Given the description of an element on the screen output the (x, y) to click on. 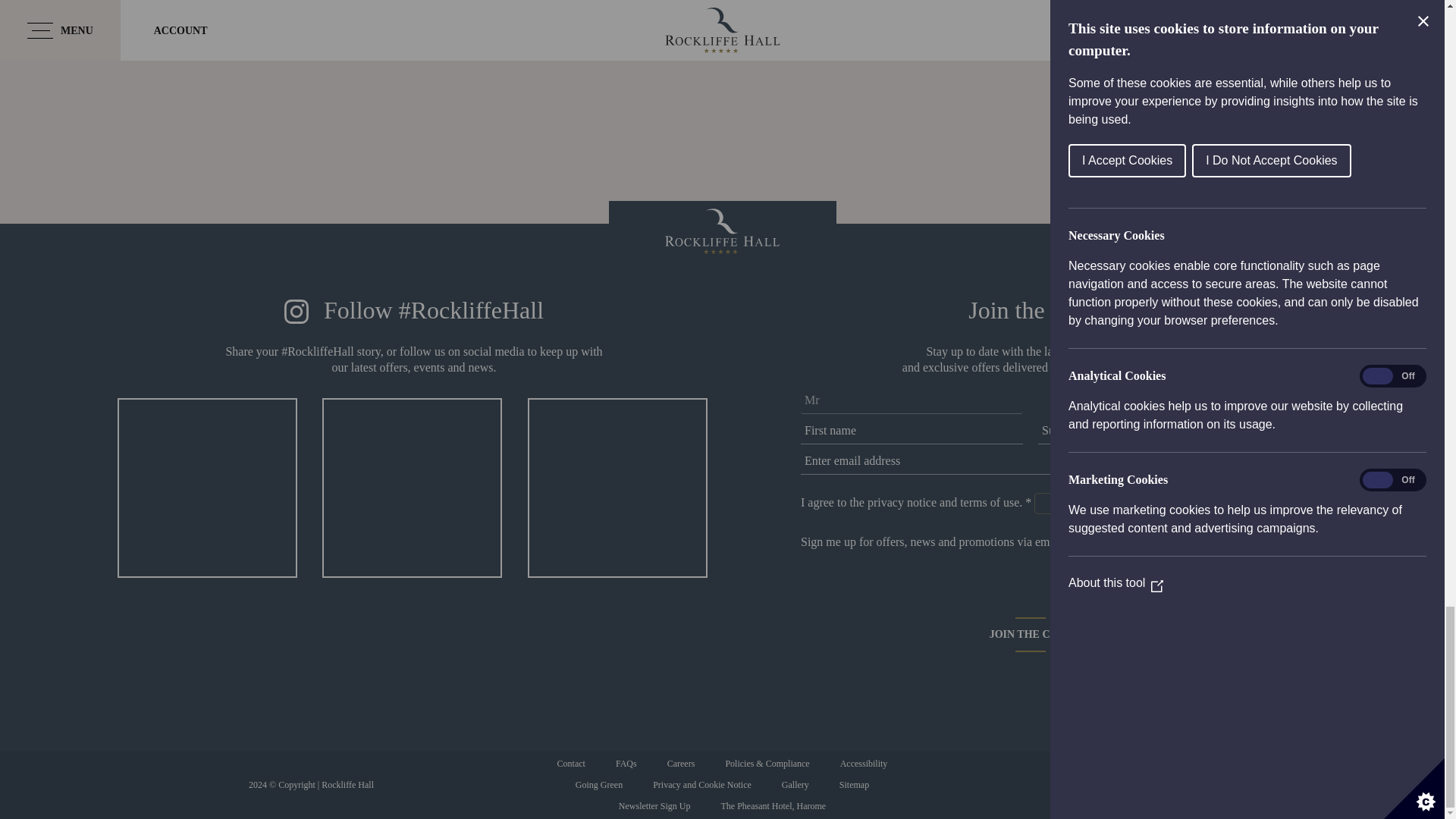
Accessibility (863, 762)
Contact (570, 762)
true (1078, 542)
Newsletter Sign Up (655, 805)
Careers (681, 762)
true (1044, 503)
Sitemap (853, 784)
FAQs (625, 762)
JOIN THE CLUB (1030, 634)
Privacy and Cookie Notice (702, 784)
Going Green (598, 784)
privacy notice and terms of use. (944, 502)
Gallery (795, 784)
The Pheasant Hotel, Harome (772, 805)
